Given the description of an element on the screen output the (x, y) to click on. 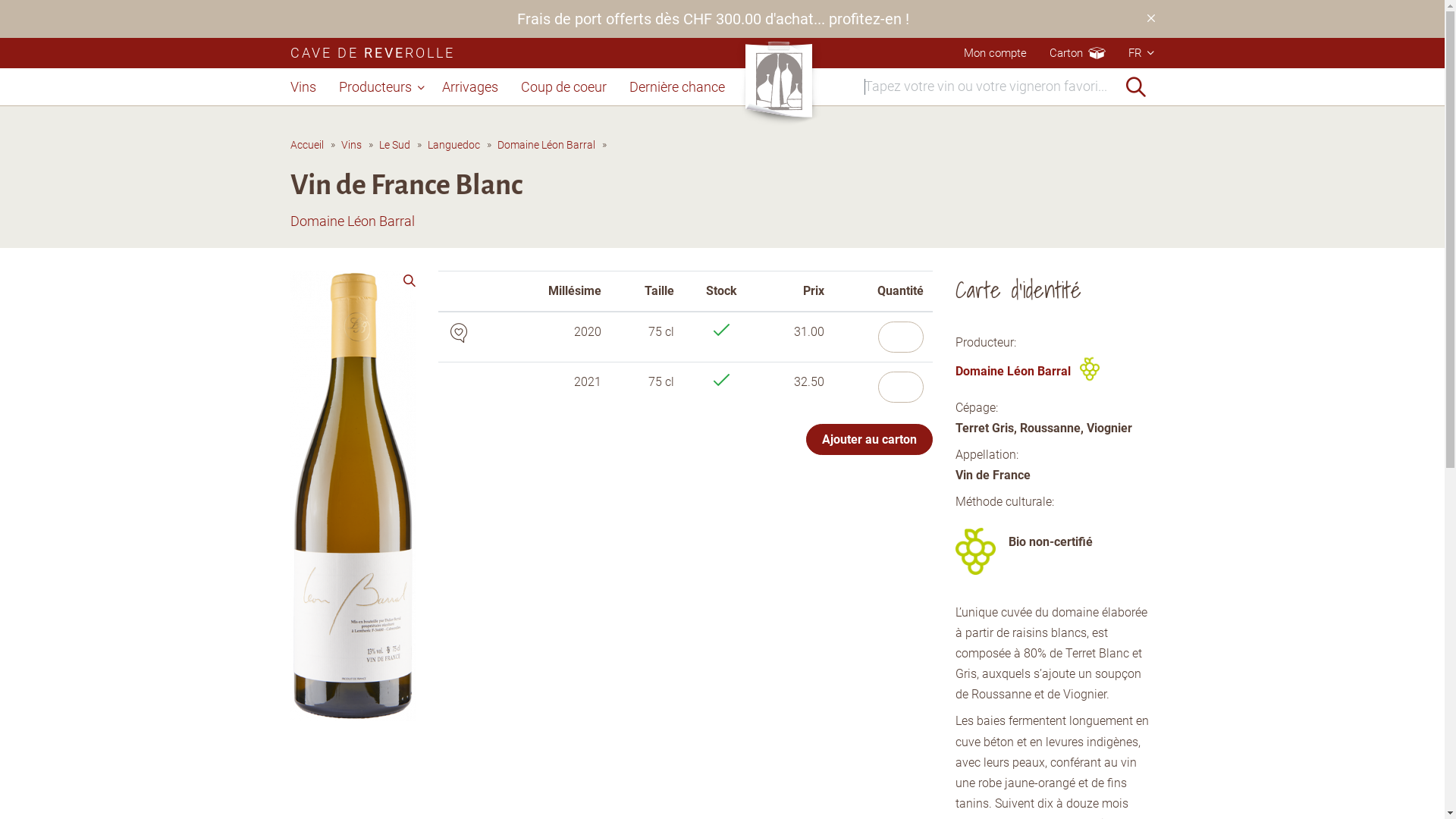
Ajouter au carton Element type: text (869, 439)
Vins Element type: text (351, 144)
Accueil Element type: text (306, 144)
Vins Element type: text (307, 87)
CAVE DE REVEROLLE Element type: text (371, 52)
Carton Element type: text (1065, 52)
FR Element type: text (1141, 52)
Mon compte Element type: text (994, 52)
Languedoc Element type: text (453, 144)
Arrivages Element type: text (469, 87)
Coup de coeur Element type: text (563, 87)
Le Sud Element type: text (394, 144)
Coup de coeur  Element type: hover (458, 332)
